Given the description of an element on the screen output the (x, y) to click on. 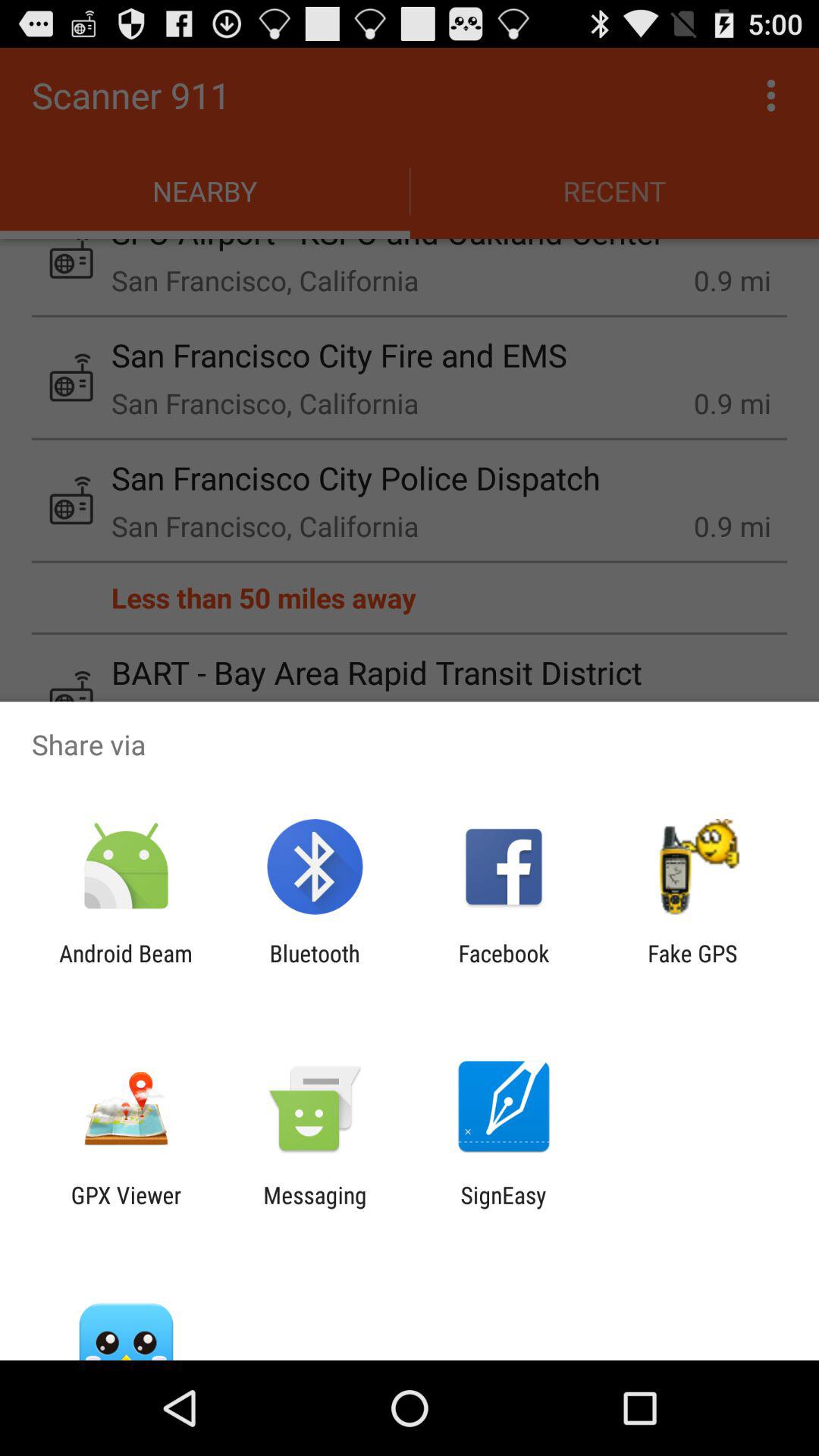
press item next to fake gps item (503, 966)
